Given the description of an element on the screen output the (x, y) to click on. 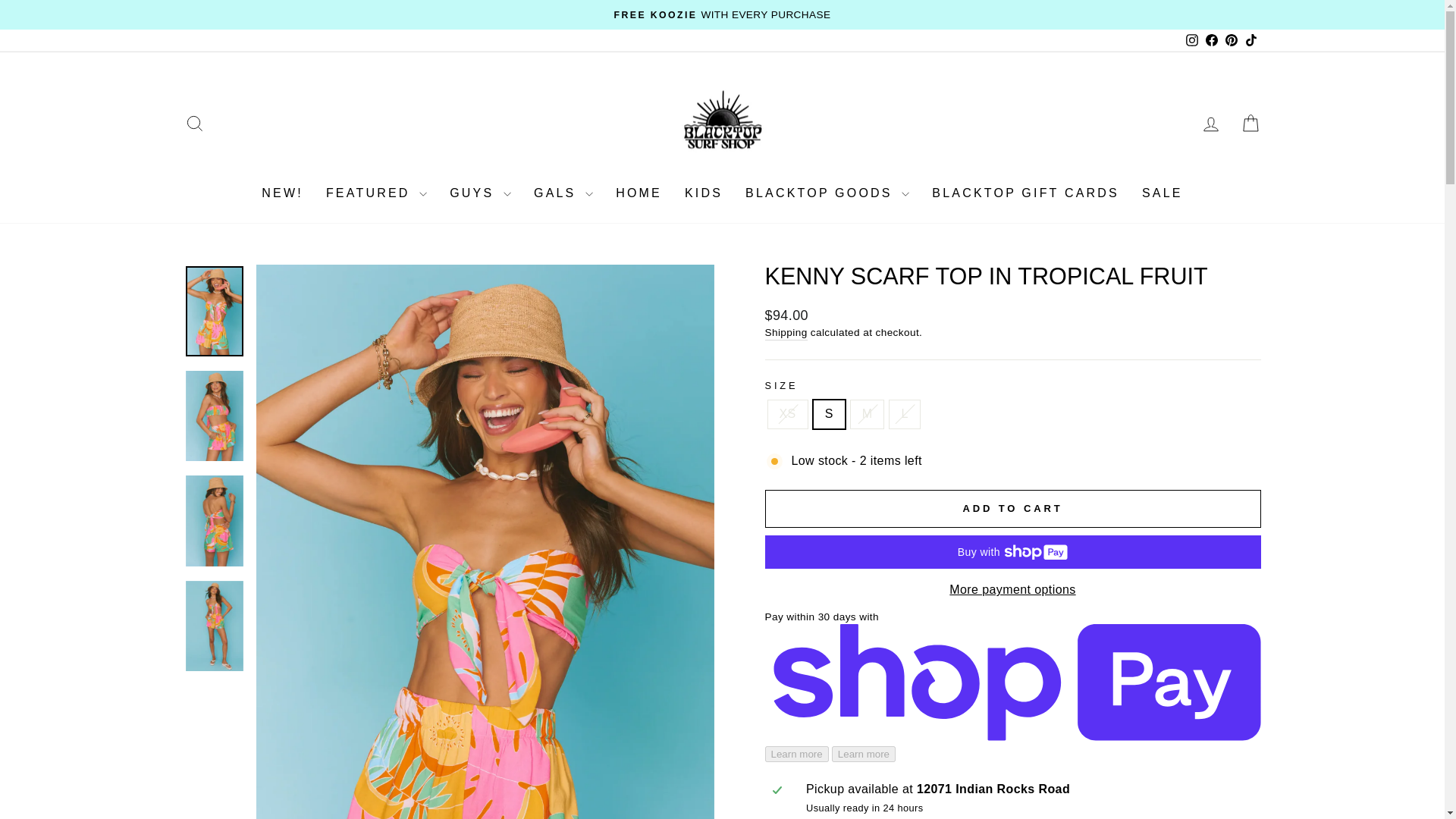
instagram (1192, 39)
ICON-SEARCH (194, 123)
Blacktop Surf Shop on Facebook (1211, 40)
Blacktop Surf Shop on Pinterest (1230, 40)
ACCOUNT (1210, 124)
Blacktop Surf Shop on TikTok (1250, 40)
Blacktop Surf Shop on Instagram (1190, 40)
